Given the description of an element on the screen output the (x, y) to click on. 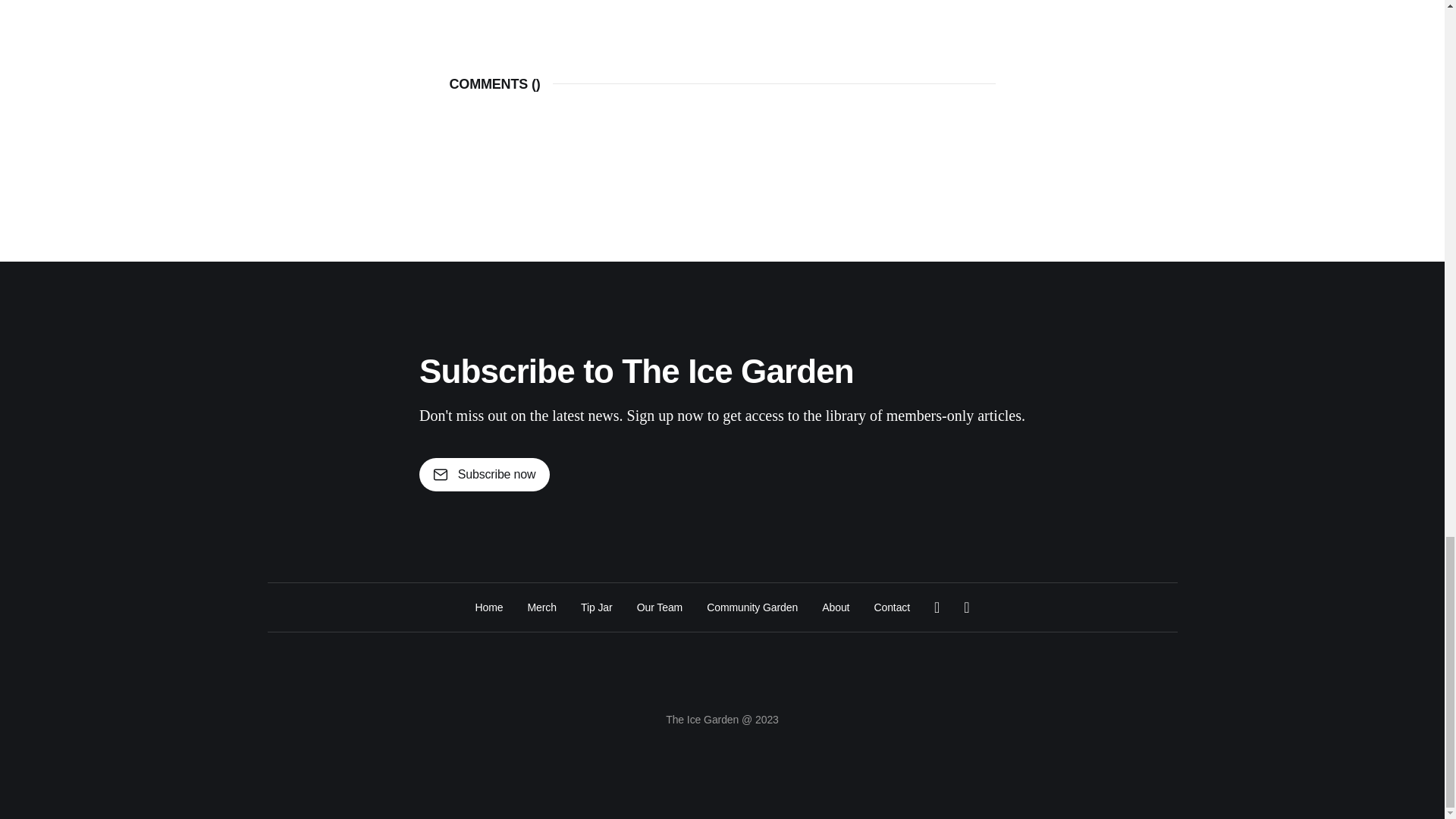
About (835, 606)
Our Team (659, 606)
Tip Jar (596, 606)
Community Garden (751, 606)
Subscribe now (484, 474)
Merch (541, 606)
Home (488, 606)
Contact (891, 606)
